Given the description of an element on the screen output the (x, y) to click on. 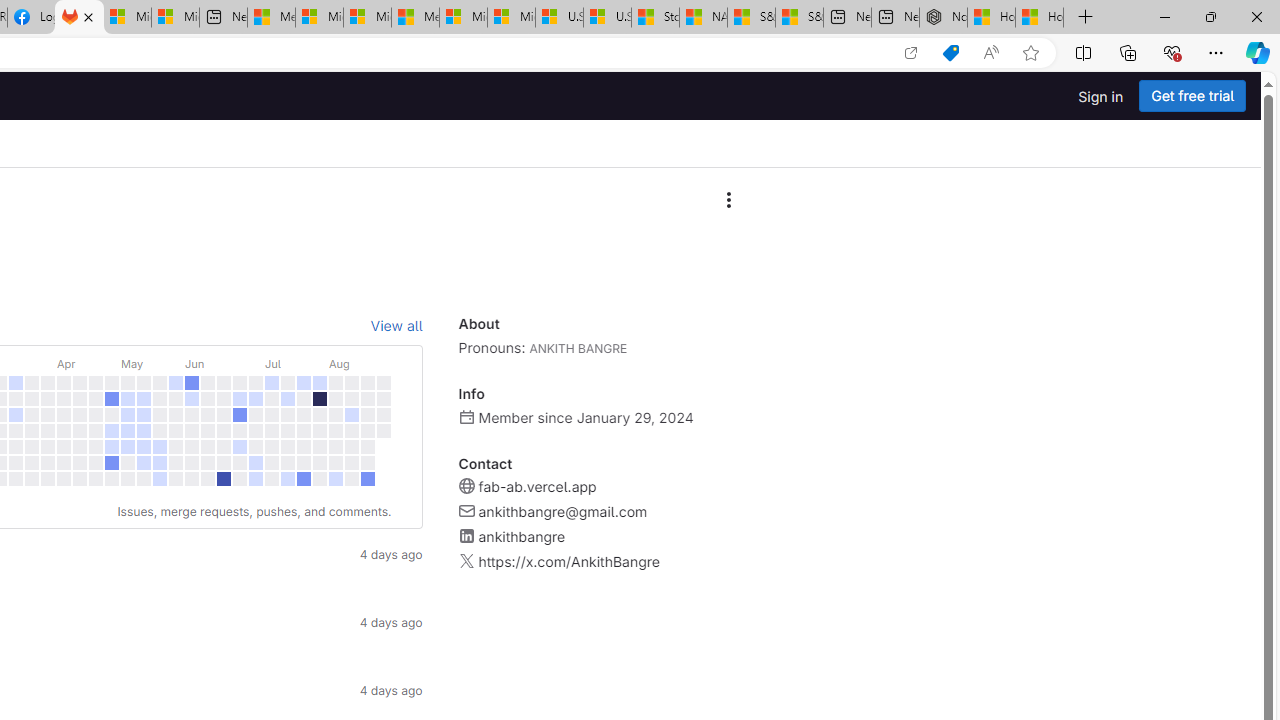
Shopping in Microsoft Edge (950, 53)
